Given the description of an element on the screen output the (x, y) to click on. 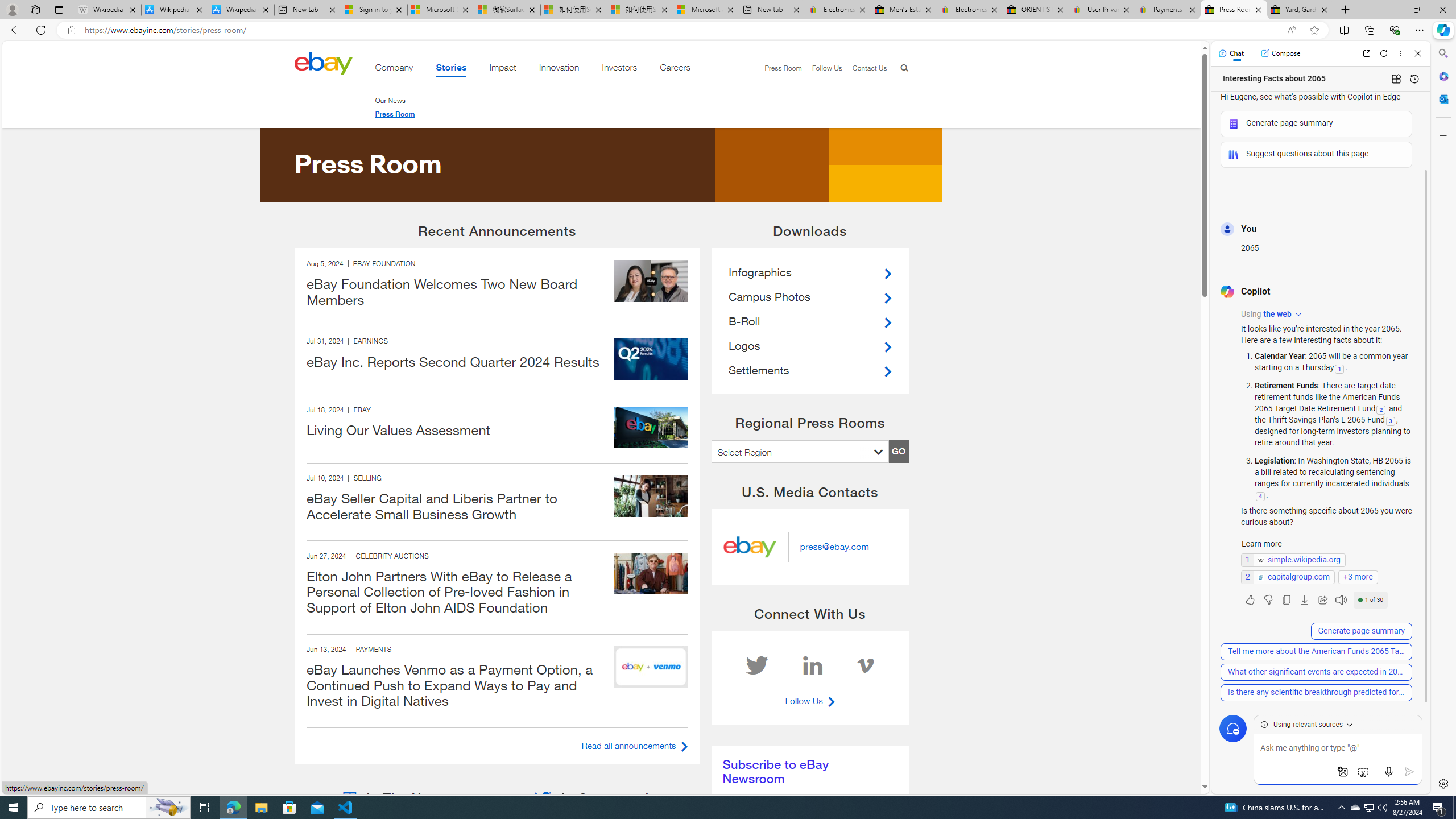
Innovation (558, 69)
Careers (674, 69)
Follow Us (826, 67)
Contact Us (868, 67)
Stories (451, 69)
Stories . This is the current section. (451, 69)
ebay hq inc20 (650, 427)
